Given the description of an element on the screen output the (x, y) to click on. 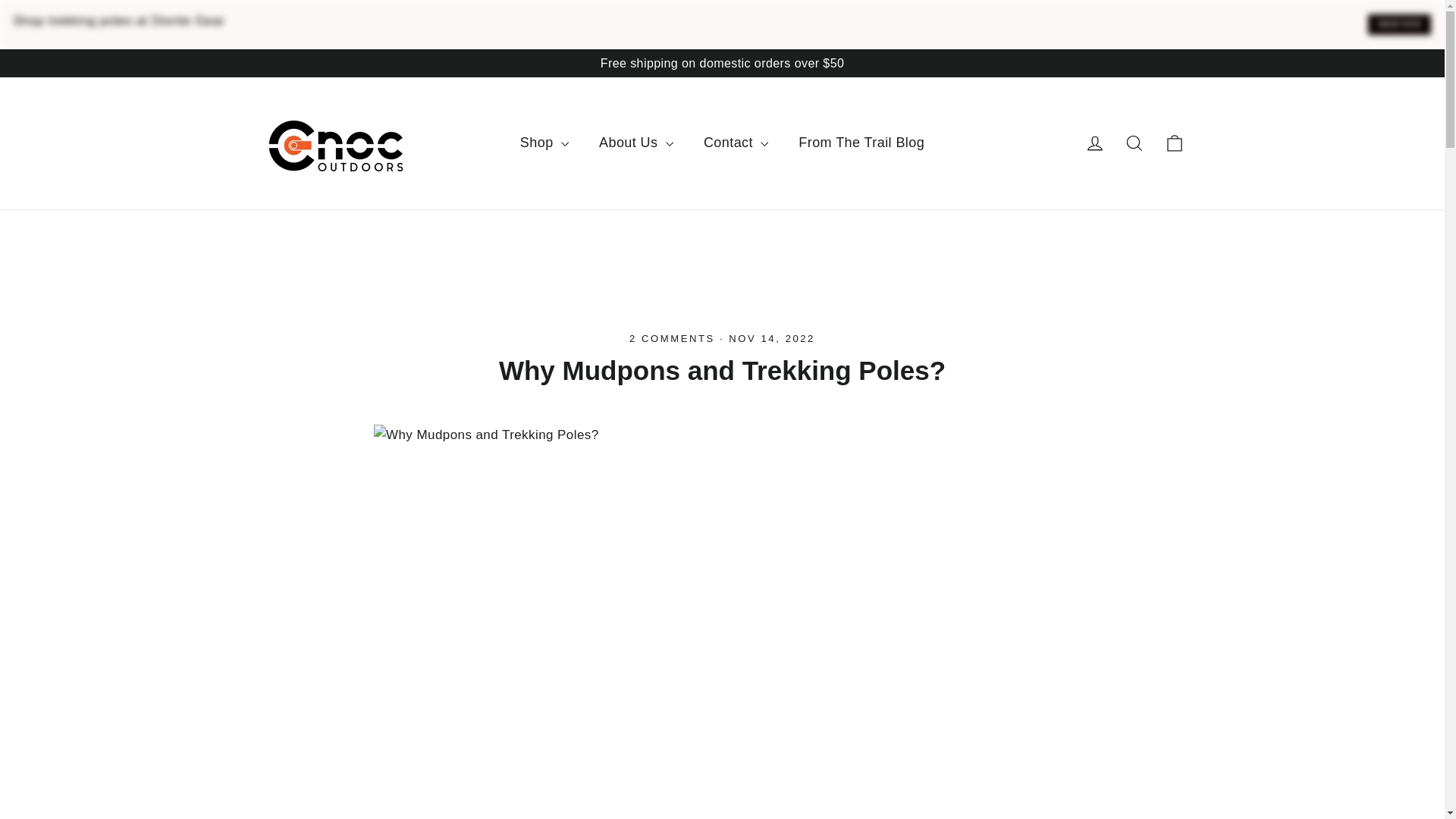
SHOP NOW (1399, 24)
account (1094, 142)
icon-search (1134, 142)
icon-bag-minimal (1174, 142)
